Given the description of an element on the screen output the (x, y) to click on. 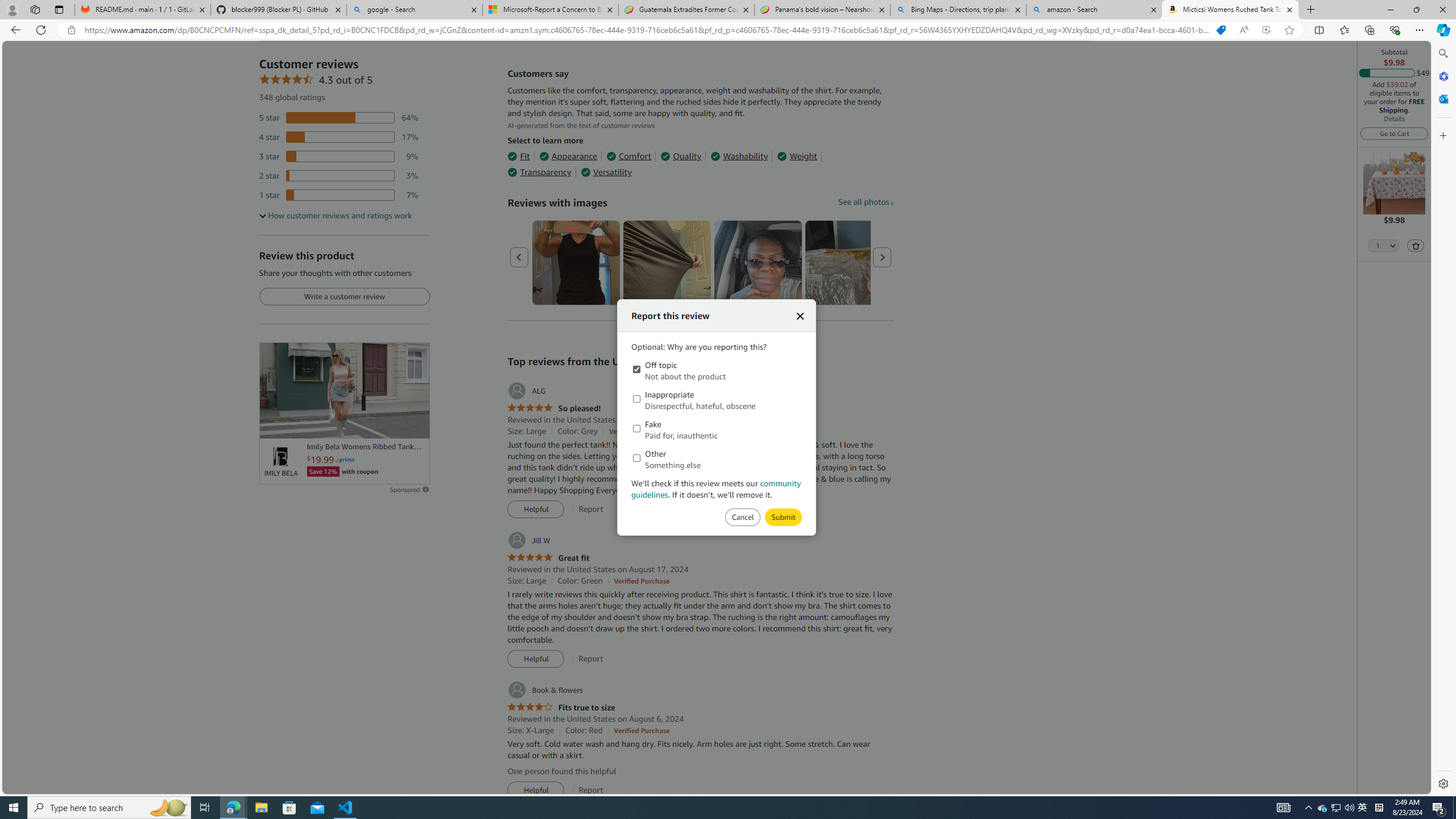
Enhance video (1266, 29)
Appearance (568, 156)
Shopping in Microsoft Edge (1220, 29)
Helpful (536, 790)
Weight (796, 156)
Jill W (528, 540)
See all photos (865, 201)
Unmute (414, 424)
5.0 out of 5 stars Great fit (547, 557)
Write a customer review (344, 296)
7 percent of reviews have 1 stars (339, 195)
